Given the description of an element on the screen output the (x, y) to click on. 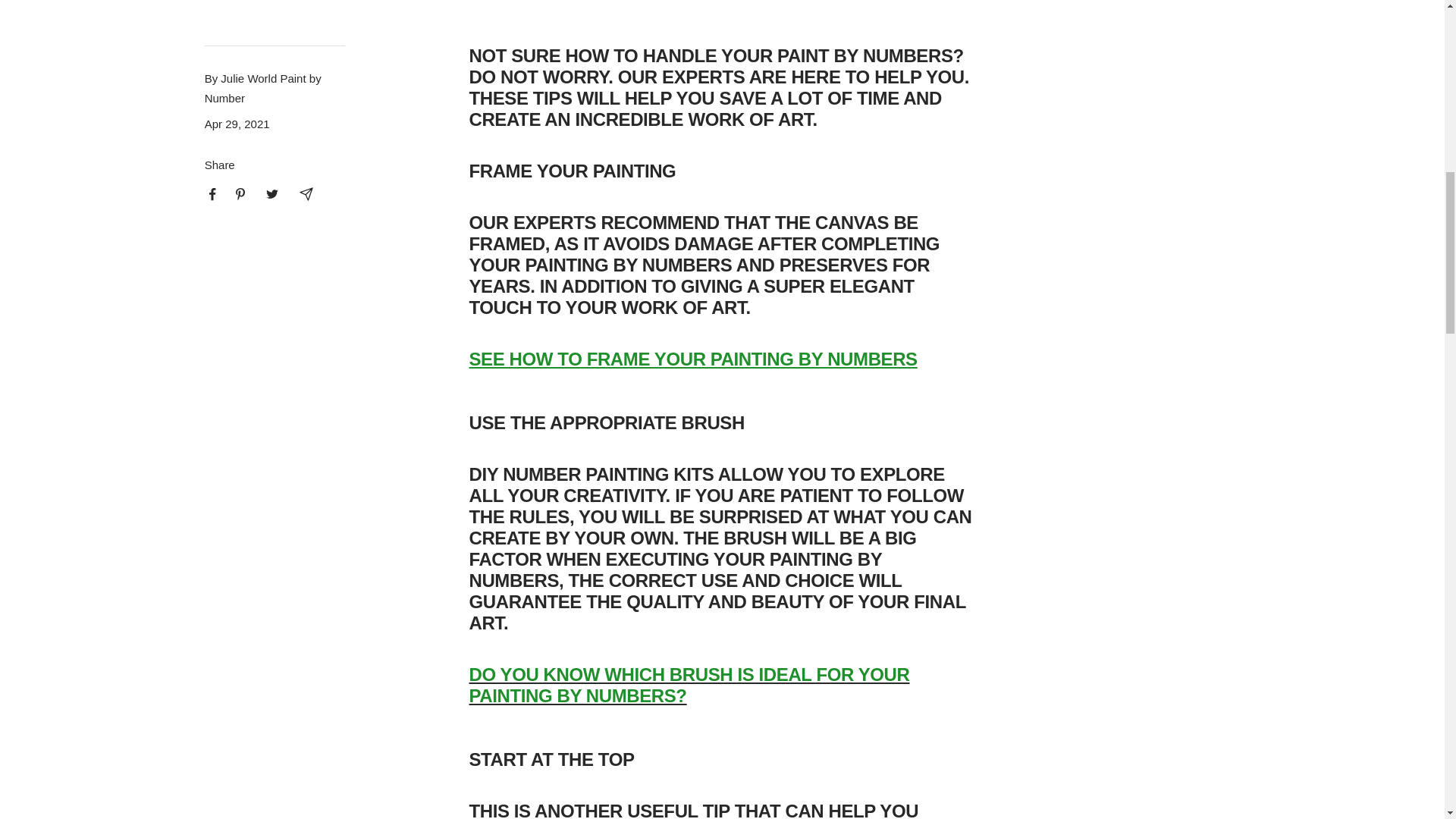
SEE HOW TO FRAME YOUR PAINTING BY NUMBERS (692, 358)
